Given the description of an element on the screen output the (x, y) to click on. 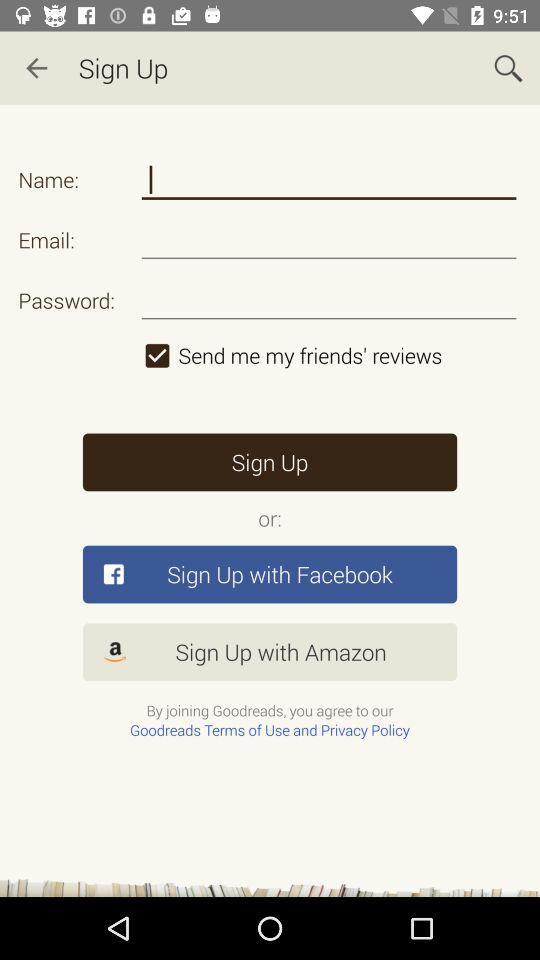
scroll until send me my item (328, 355)
